Given the description of an element on the screen output the (x, y) to click on. 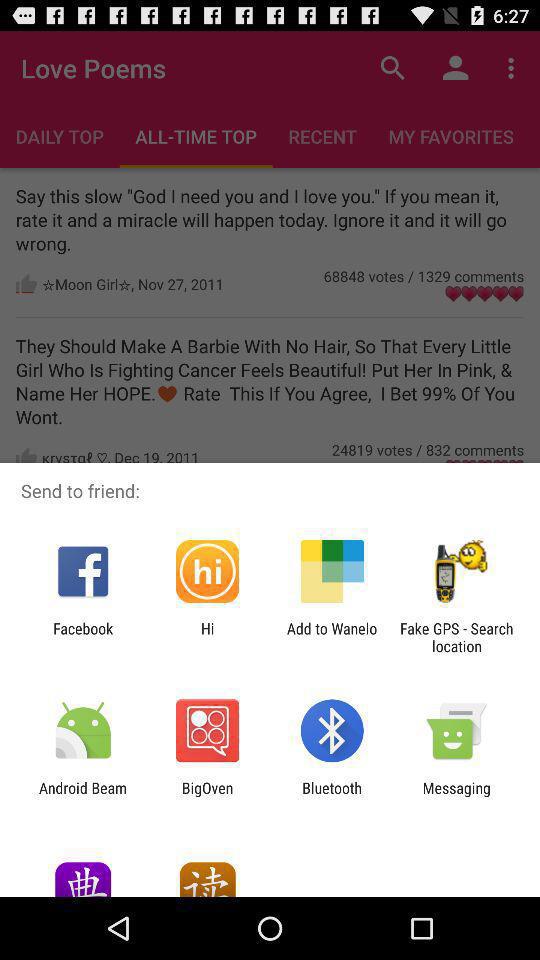
turn off the app next to fake gps search app (331, 637)
